Given the description of an element on the screen output the (x, y) to click on. 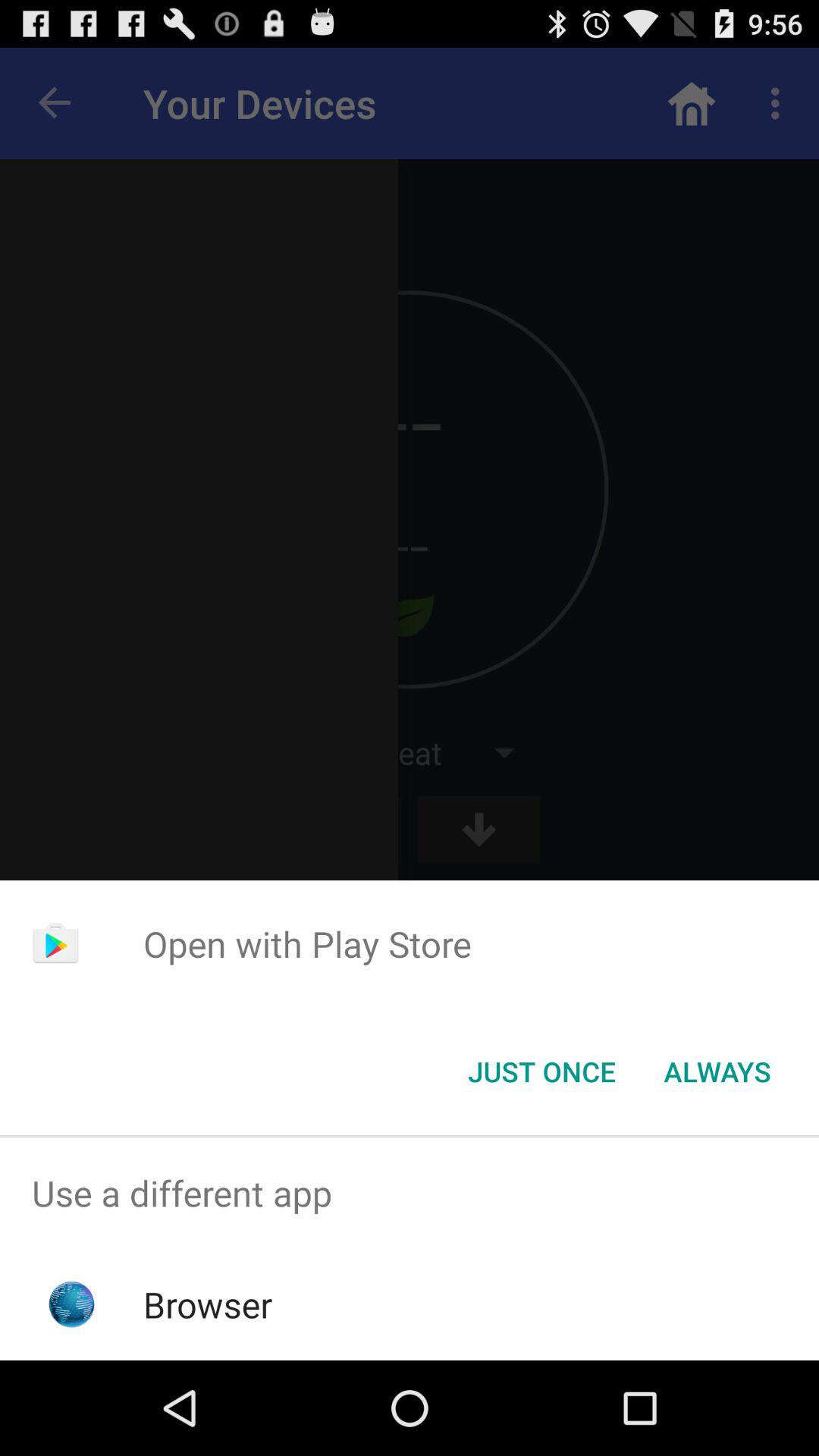
launch button to the left of the always icon (541, 1071)
